Given the description of an element on the screen output the (x, y) to click on. 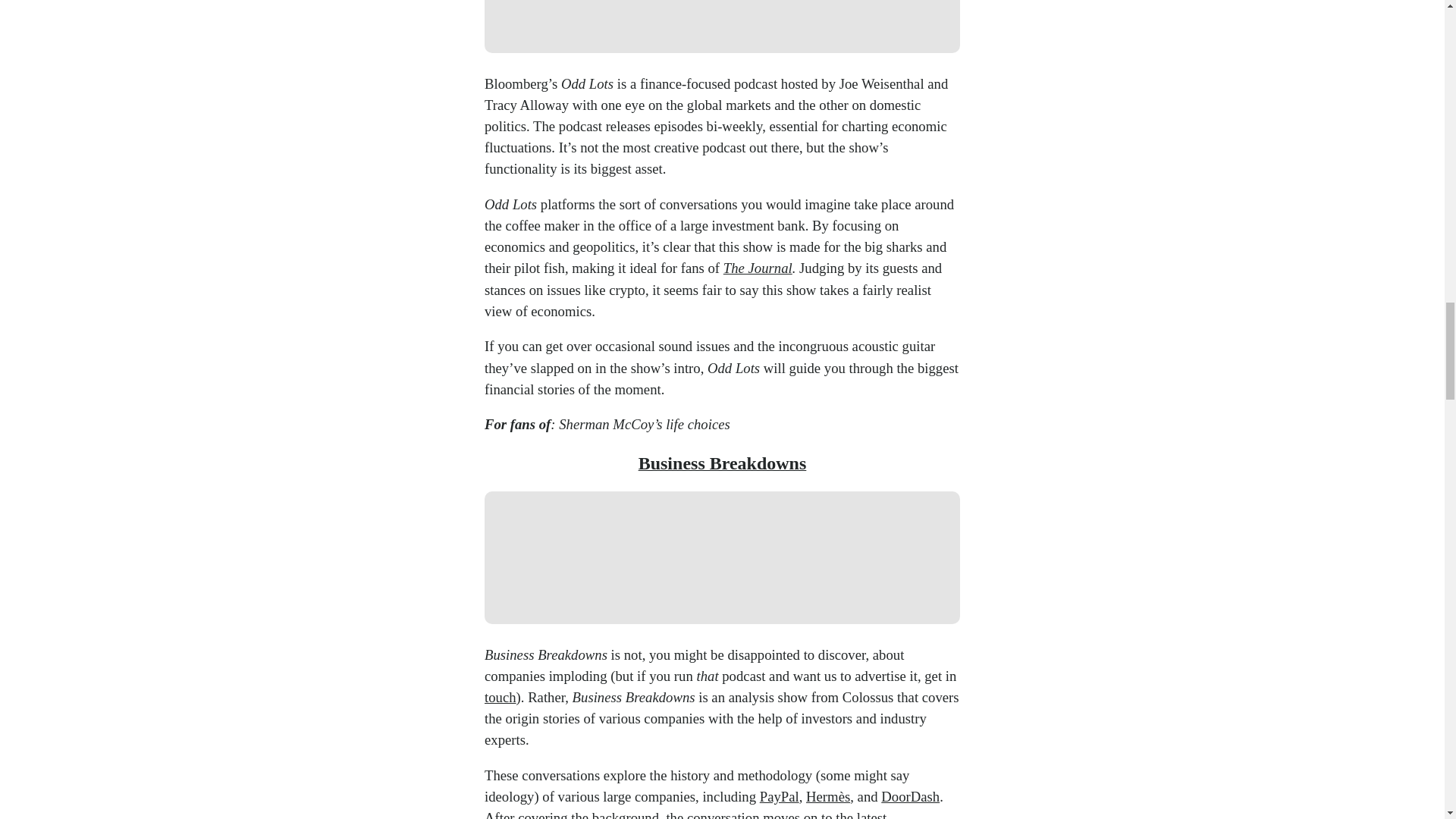
The Journal (757, 268)
Business Breakdowns (722, 464)
touch (500, 697)
DoorDash (909, 796)
PayPal (779, 796)
